Given the description of an element on the screen output the (x, y) to click on. 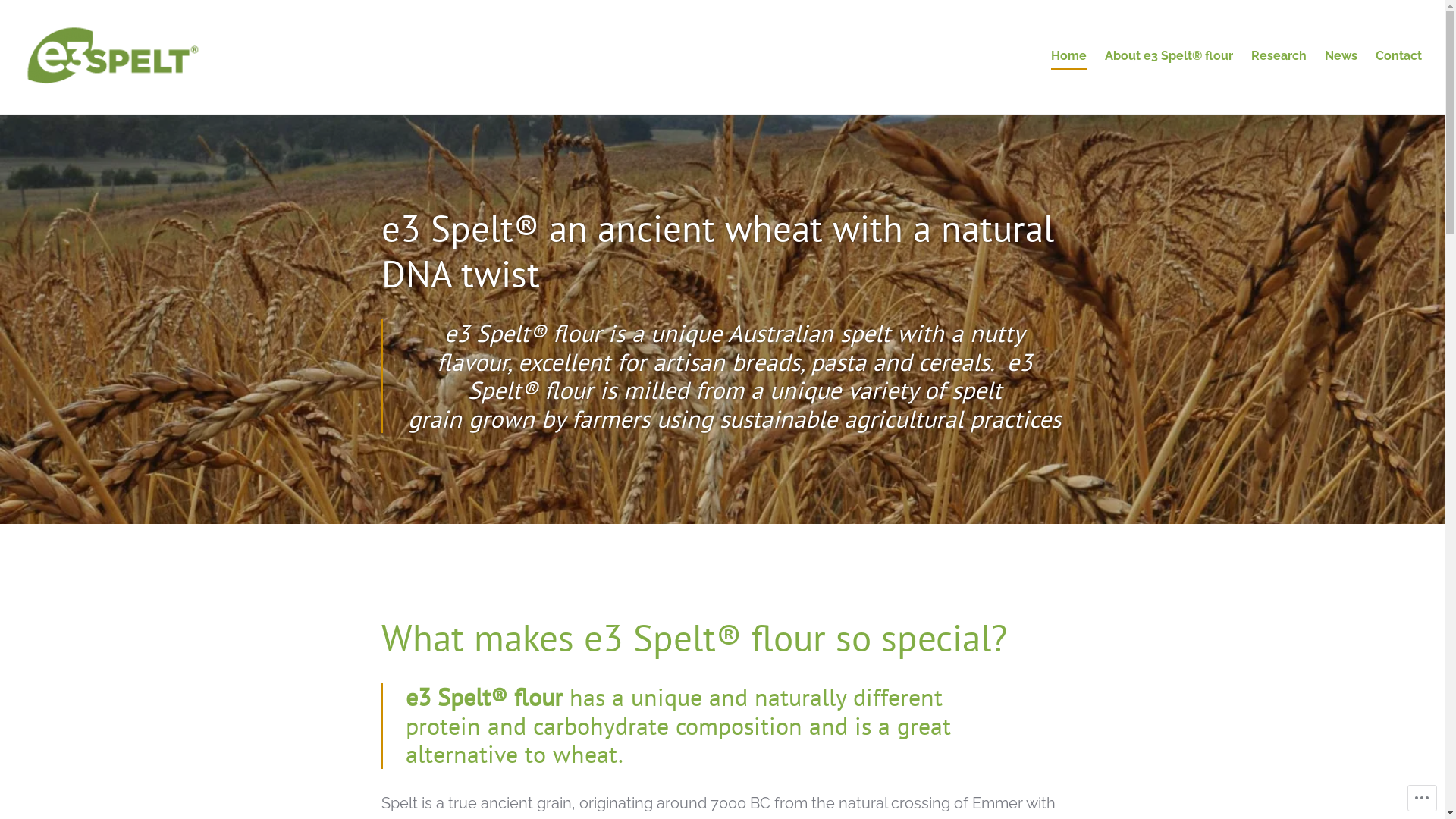
Home Element type: text (1068, 56)
Contact Element type: text (1398, 56)
News Element type: text (1340, 56)
Research Element type: text (1278, 56)
e3Spelt flour Element type: text (75, 112)
